Given the description of an element on the screen output the (x, y) to click on. 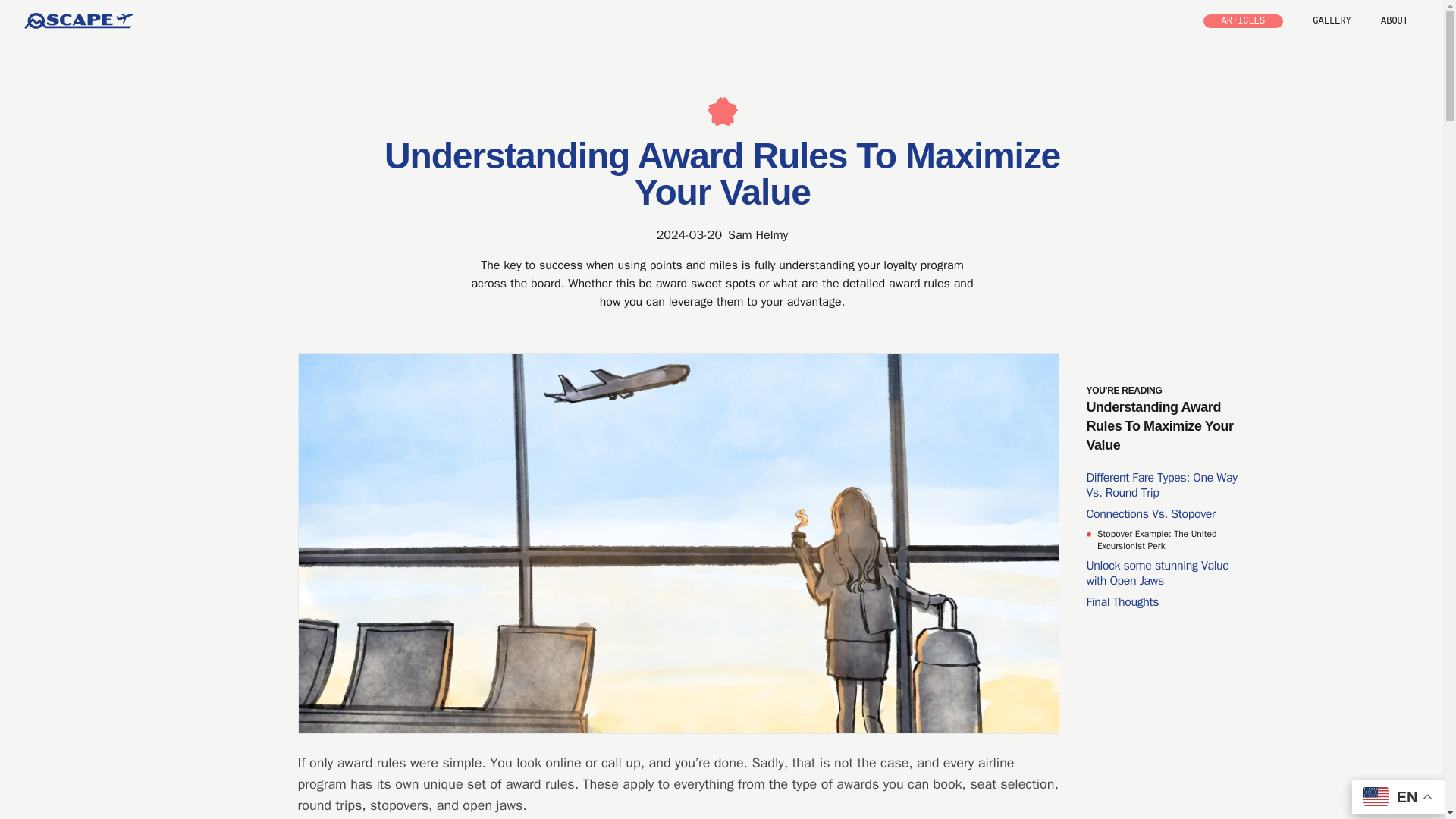
Understanding Award Rules To Maximize Your Value (1159, 430)
Different Fare Types: One Way Vs. Round Trip (1168, 485)
ARTICLES (1244, 20)
Connections Vs. Stopover (1168, 513)
GALLERY (1332, 20)
ABOUT (1393, 20)
